Given the description of an element on the screen output the (x, y) to click on. 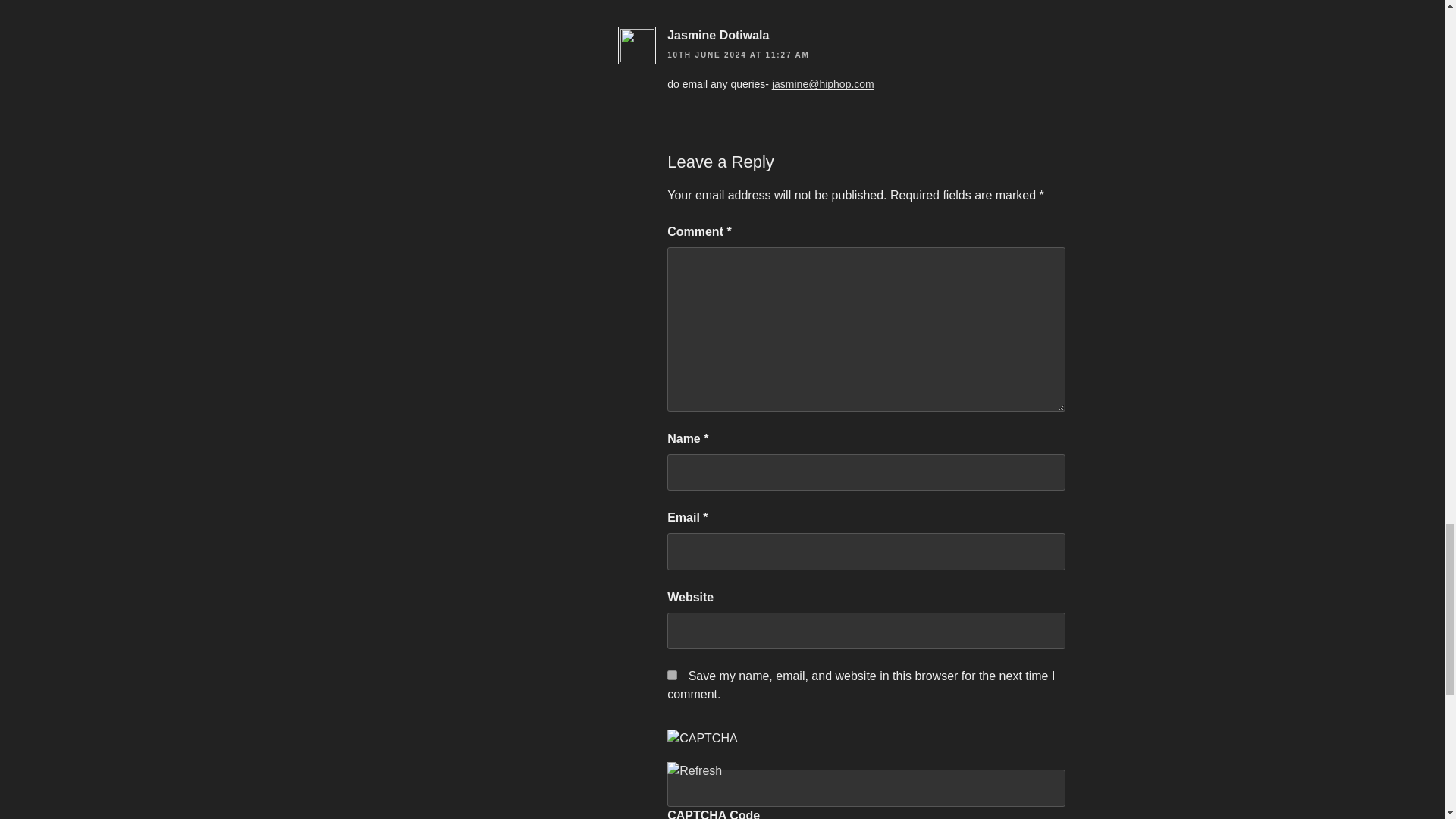
CAPTCHA (716, 745)
Refresh (694, 770)
yes (671, 675)
10TH JUNE 2024 AT 11:27 AM (737, 54)
